Given the description of an element on the screen output the (x, y) to click on. 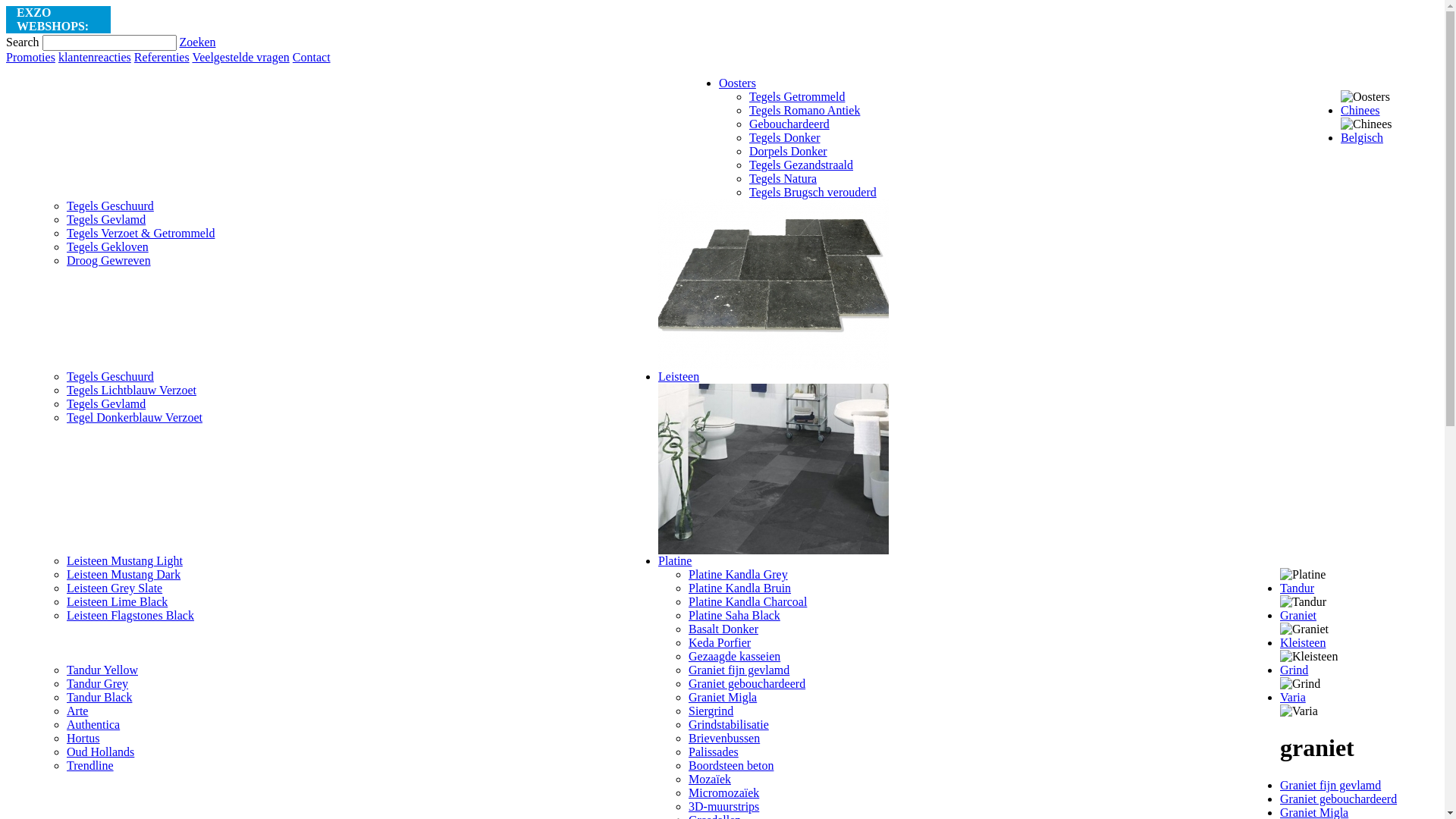
Leisteen Flagstones Black Element type: text (130, 614)
Graniet fijn gevlamd Element type: text (738, 669)
Graniet gebouchardeerd Element type: text (746, 683)
Metaal-Beton Element type: text (376, 20)
Tegel Donkerblauw Verzoet Element type: text (134, 417)
Siergrind Element type: text (710, 710)
Basalt Donker Element type: text (723, 628)
Composiet Element type: text (622, 20)
Zoeken Element type: text (197, 41)
Kleisteen Element type: text (1302, 642)
Tegels Getrommeld Element type: text (796, 96)
Tegels Gevlamd Element type: text (105, 403)
Robinia-Acacia Element type: text (149, 20)
Palissades Element type: text (713, 751)
klantenreacties Element type: text (94, 56)
Tegels Gezandstraald Element type: text (801, 164)
Dorpels Donker Element type: text (788, 150)
Platine Kandla Charcoal Element type: text (747, 601)
Palen per pak Element type: text (448, 20)
Brievenbussen Element type: text (723, 737)
Oosters Element type: text (737, 82)
Platine Saha Black Element type: text (734, 614)
Promoties Element type: text (30, 56)
Grind Element type: text (1294, 669)
Boordsteen beton Element type: text (730, 765)
Referenties Element type: text (161, 56)
Tegels Romano Antiek Element type: text (804, 109)
Graniet fijn gevlamd Element type: text (1330, 784)
Tegels Geschuurd Element type: text (109, 205)
Droog Gewreven Element type: text (108, 260)
Leisteen Mustang Dark Element type: text (123, 573)
Graniet gebouchardeerd Element type: text (1338, 798)
Authentica Element type: text (92, 724)
Tegels Gevlamd Element type: text (105, 219)
Arte Element type: text (76, 710)
Tegels Brugsch verouderd Element type: text (812, 191)
Leisteen Mustang Light Element type: text (124, 560)
Trendline Element type: text (89, 765)
Tandur Grey Element type: text (97, 683)
Tegels Verzoet & Getrommeld Element type: text (140, 232)
Grindstabilisatie Element type: text (728, 724)
Graniet Migla Element type: text (722, 696)
Platine Kandla Bruin Element type: text (739, 587)
Leisteen Lime Black Element type: text (116, 601)
Tuinhuis Element type: text (566, 20)
Hortus Element type: text (83, 737)
Leisteen Element type: text (678, 376)
Tegels Lichtblauw Verzoet Element type: text (131, 389)
Tegels Geschuurd Element type: text (109, 376)
Graniet Element type: text (1298, 614)
Contact Element type: text (311, 56)
Tandur Element type: text (1297, 587)
Tropisch hout Element type: text (304, 20)
Varia Element type: text (1292, 696)
Eco bouw Element type: text (512, 20)
Veelgestelde vragen Element type: text (239, 56)
Belgisch Element type: text (1361, 137)
Keda Porfier Element type: text (719, 642)
Oud Hollands Element type: text (100, 751)
Leisteen Grey Slate Element type: text (114, 587)
Ecologisch hout Element type: text (228, 20)
Tegels Donker Element type: text (784, 137)
Gebouchardeerd Element type: text (789, 123)
Tegels Natura Element type: text (782, 178)
Tandur Black Element type: text (98, 696)
Gezaagde kasseien Element type: text (734, 655)
Platine Element type: text (674, 560)
3D-muurstrips Element type: text (723, 806)
Platine Kandla Grey Element type: text (737, 573)
Chinees Element type: text (1360, 109)
Tegels Gekloven Element type: text (107, 246)
Tandur Yellow Element type: text (102, 669)
